Given the description of an element on the screen output the (x, y) to click on. 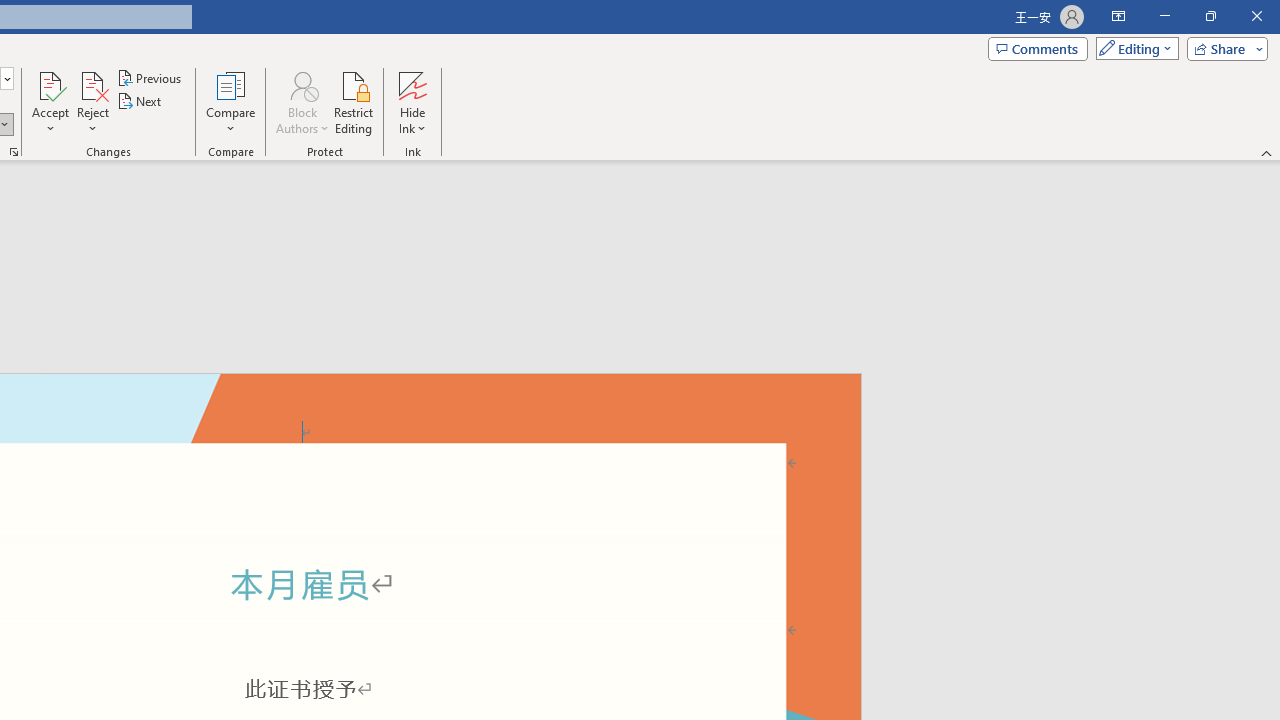
Reject and Move to Next (92, 84)
Previous (150, 78)
Block Authors (302, 102)
Mode (1133, 47)
Accept (50, 102)
Accept and Move to Next (50, 84)
